Given the description of an element on the screen output the (x, y) to click on. 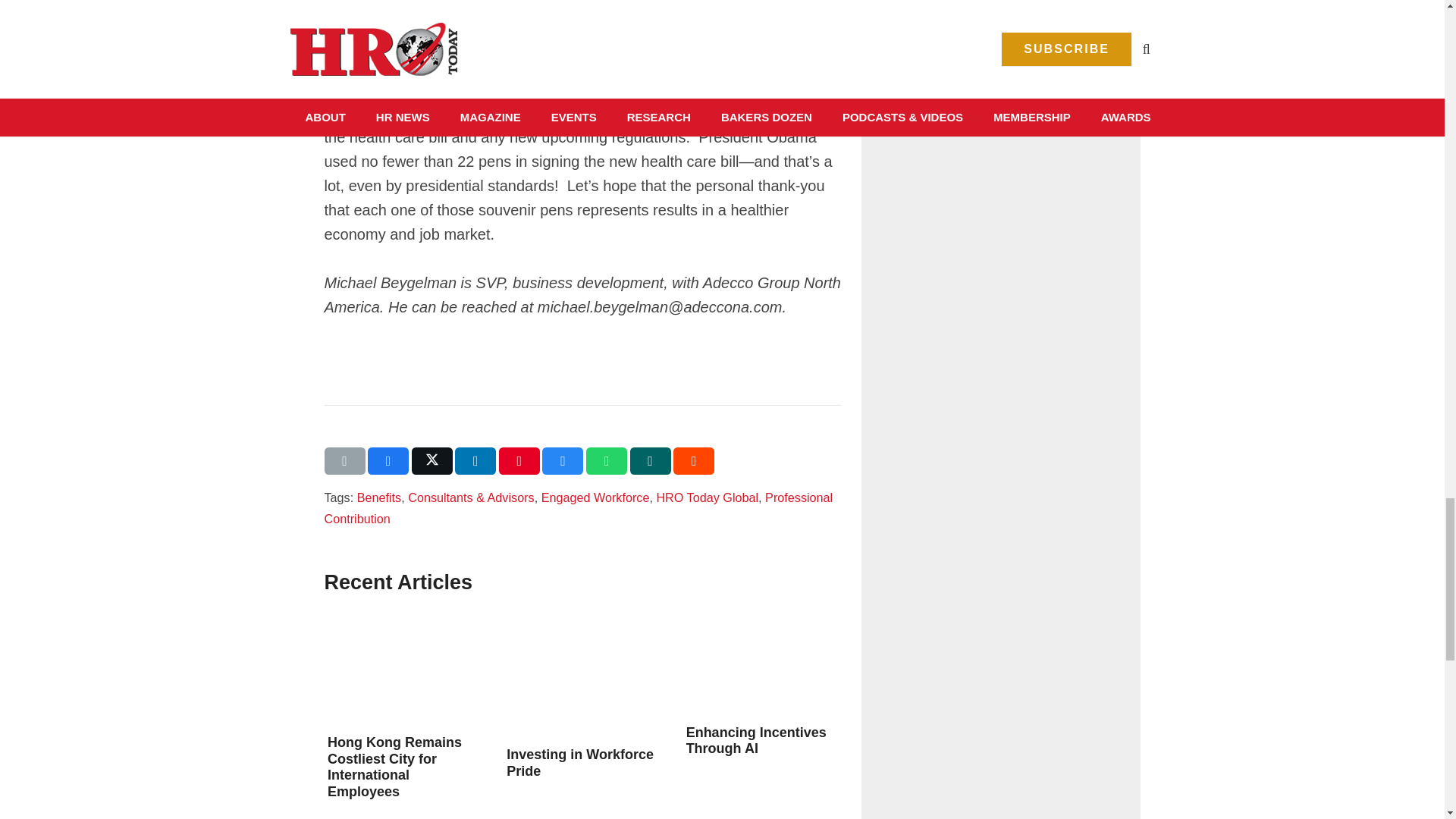
Share this (693, 461)
Share this (475, 461)
Email this (344, 461)
Share this (606, 461)
Tweet this (432, 461)
Pin this (519, 461)
Share this (562, 461)
Share this (388, 461)
Share this (650, 461)
